Given the description of an element on the screen output the (x, y) to click on. 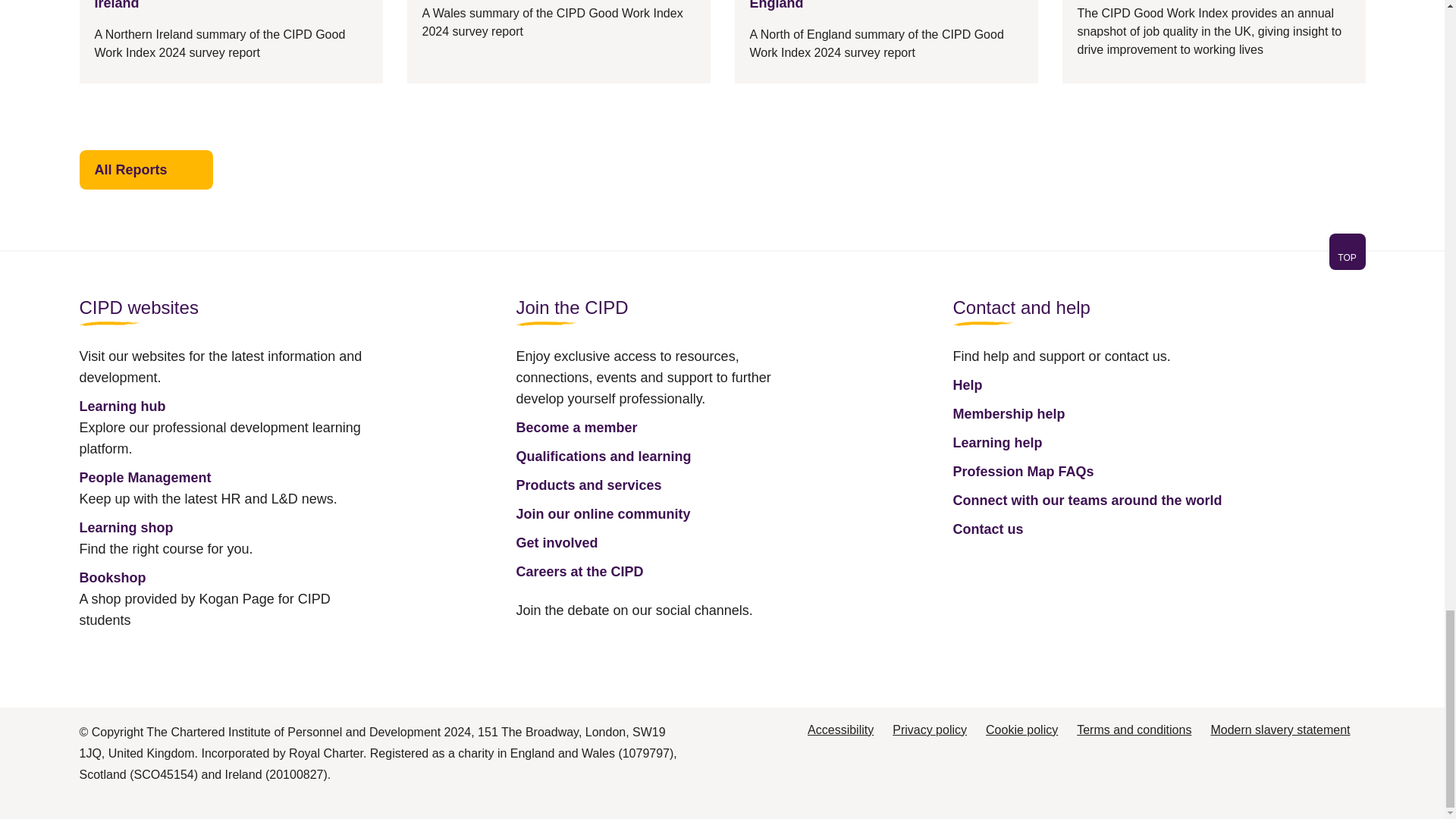
TOP (1346, 257)
TOP (1346, 251)
TOP (721, 260)
